Given the description of an element on the screen output the (x, y) to click on. 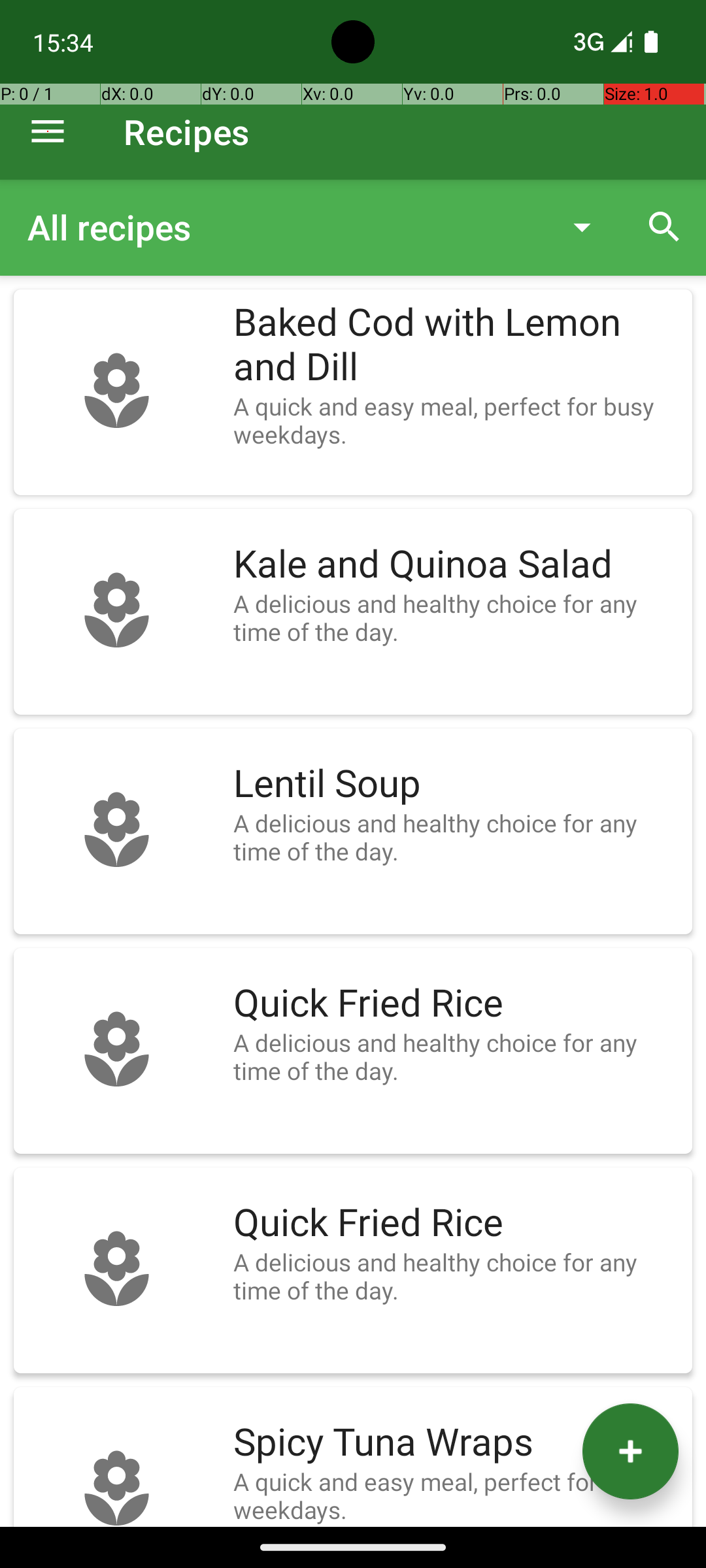
Spicy Tuna Wraps Element type: android.widget.TextView (455, 1442)
